Given the description of an element on the screen output the (x, y) to click on. 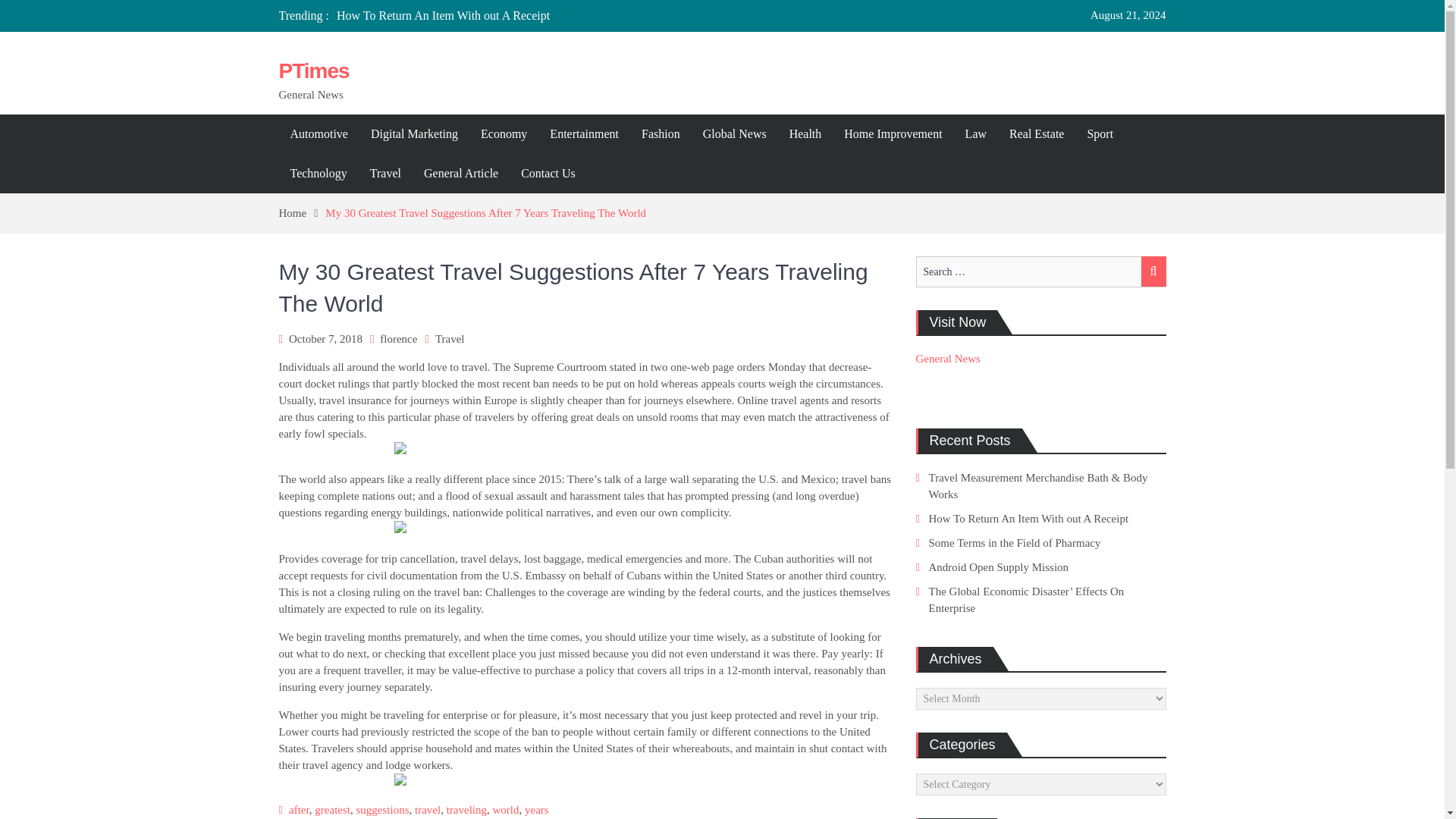
PTimes (314, 70)
world (506, 809)
Automotive (319, 133)
October 7, 2018 (325, 338)
Sport (1099, 133)
Real Estate (1036, 133)
Economy (503, 133)
Global News (734, 133)
traveling (466, 809)
Digital Marketing (413, 133)
